Given the description of an element on the screen output the (x, y) to click on. 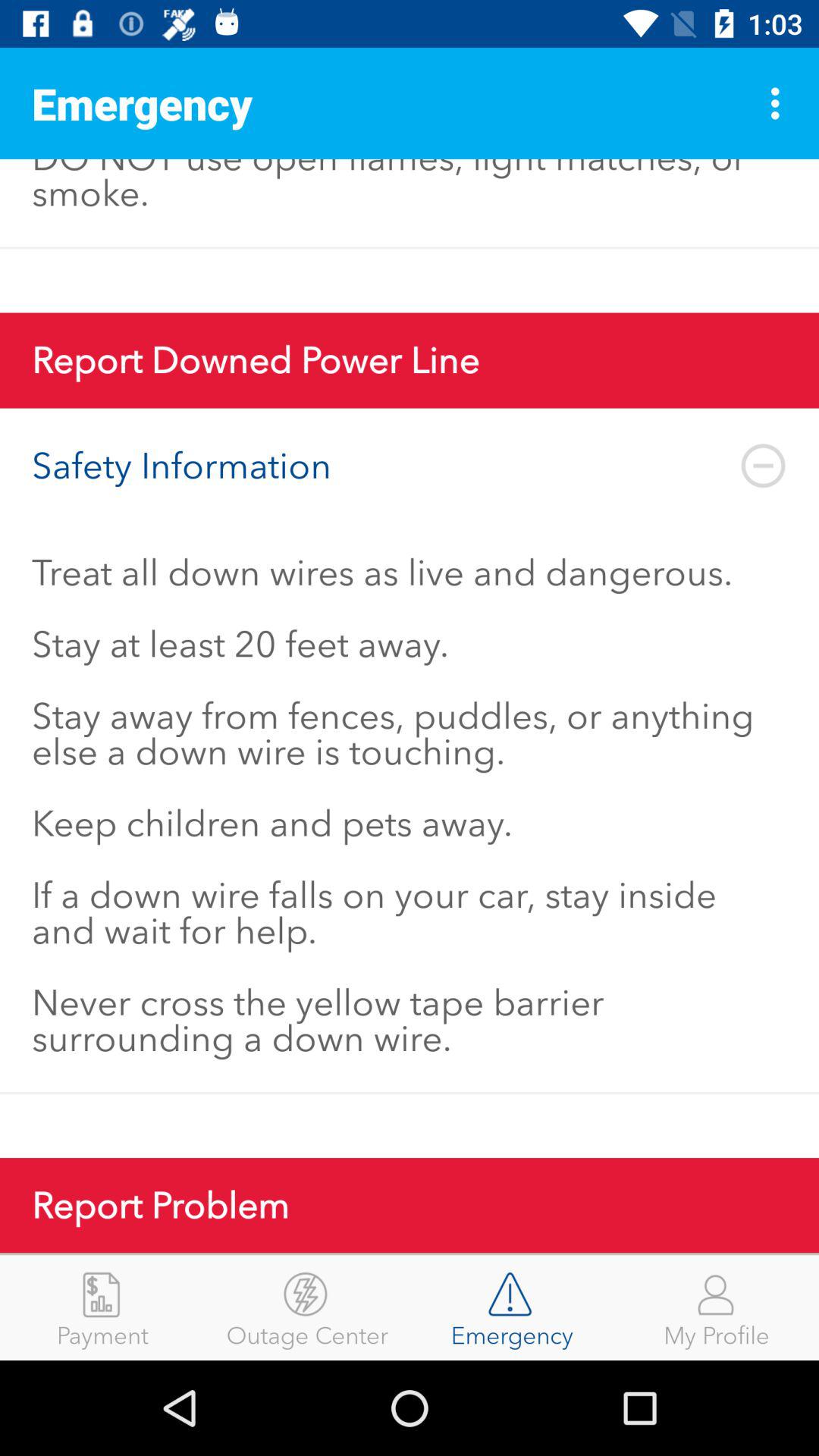
flip until payment (102, 1307)
